Given the description of an element on the screen output the (x, y) to click on. 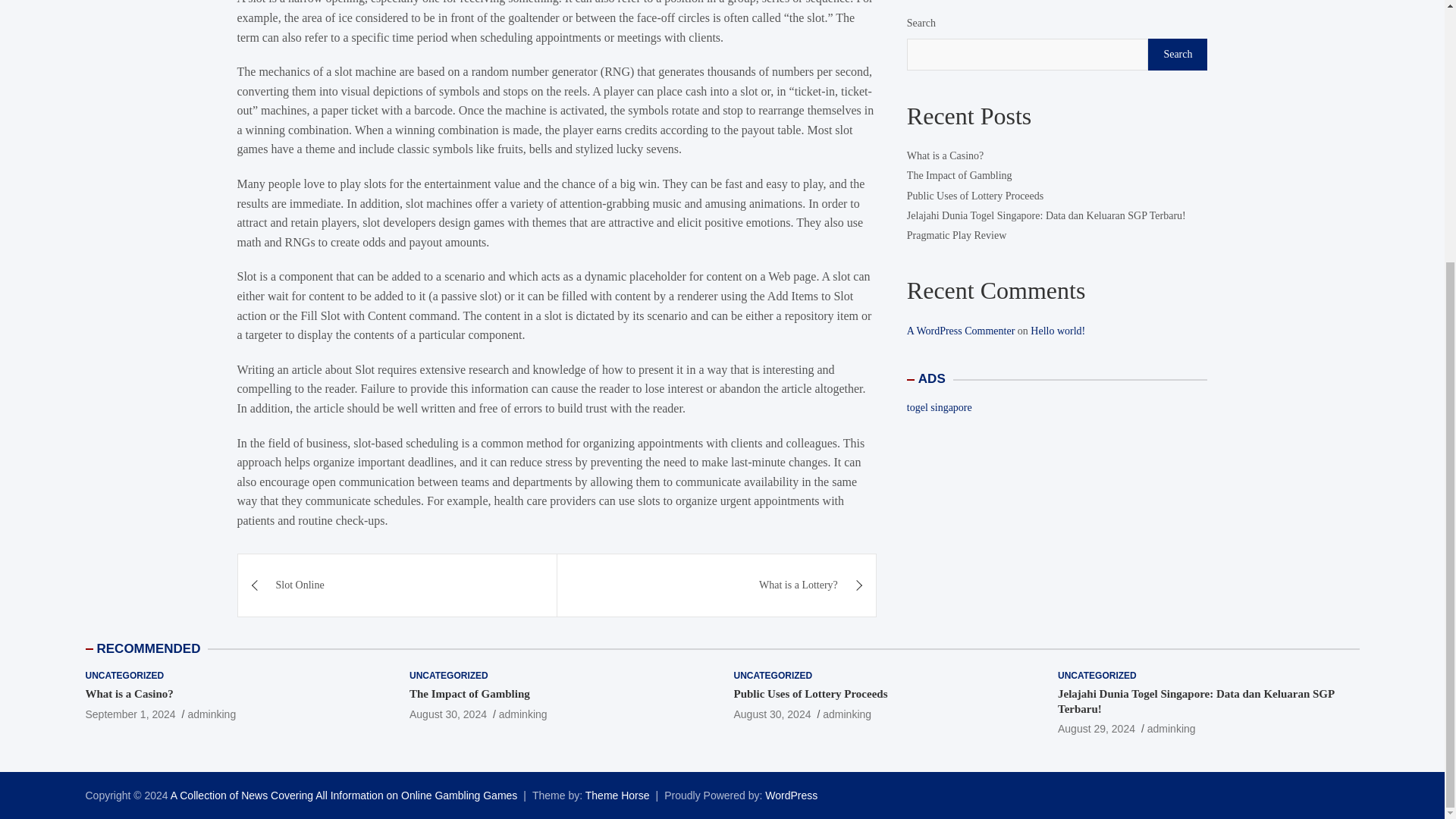
What is a Casino? (129, 714)
A WordPress Commenter (960, 215)
Hello world! (1057, 215)
togel singapore (939, 292)
Public Uses of Lottery Proceeds (810, 693)
The Impact of Gambling (959, 60)
UNCATEGORIZED (123, 676)
RECOMMENDED (148, 648)
What is a Lottery? (716, 585)
August 29, 2024 (1096, 728)
